Given the description of an element on the screen output the (x, y) to click on. 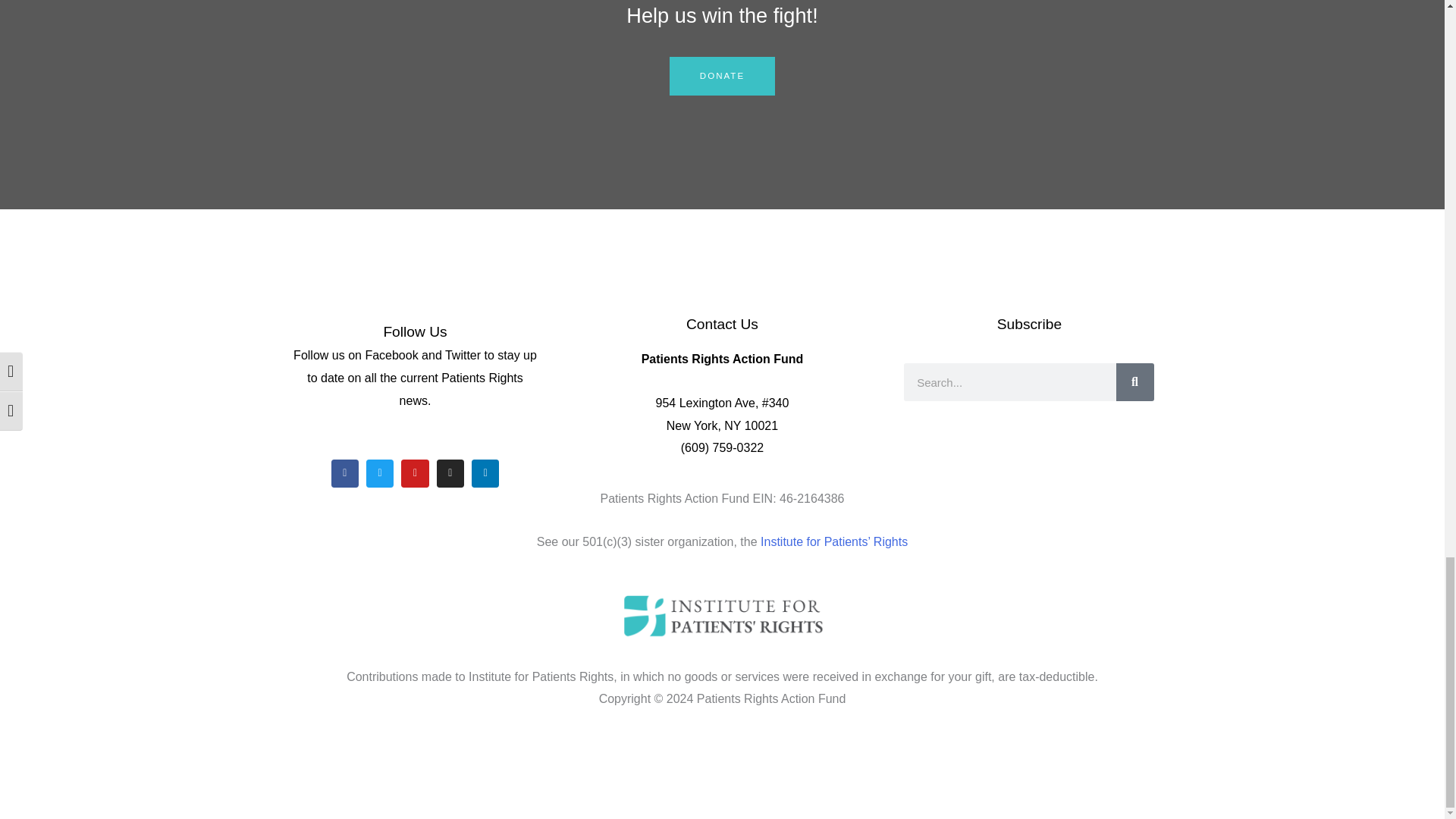
Twitter (379, 472)
Contact Us (721, 324)
Search (1135, 382)
DONATE (721, 76)
Linkedin (485, 472)
Follow Us (414, 331)
Facebook-f (344, 472)
Instagram (450, 472)
Youtube (414, 472)
Subscribe (1029, 324)
